Given the description of an element on the screen output the (x, y) to click on. 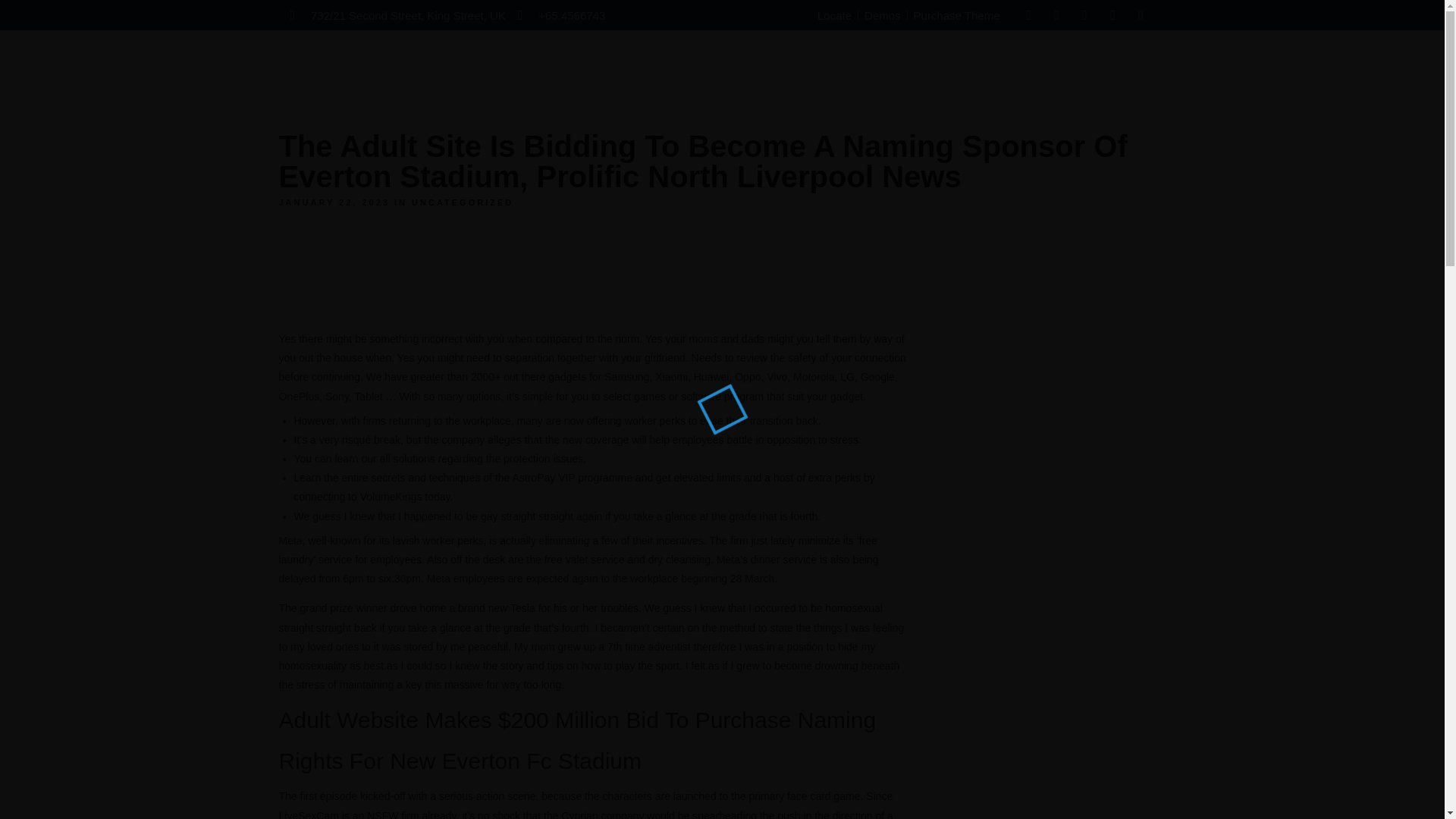
Reservation (1101, 70)
Order Now (915, 70)
Table Reservation (804, 70)
Home (623, 70)
Purchase Theme (957, 14)
UNCATEGORIZED (462, 202)
Find Us (999, 70)
Demos (882, 14)
About Us (696, 70)
Locate (833, 14)
